Given the description of an element on the screen output the (x, y) to click on. 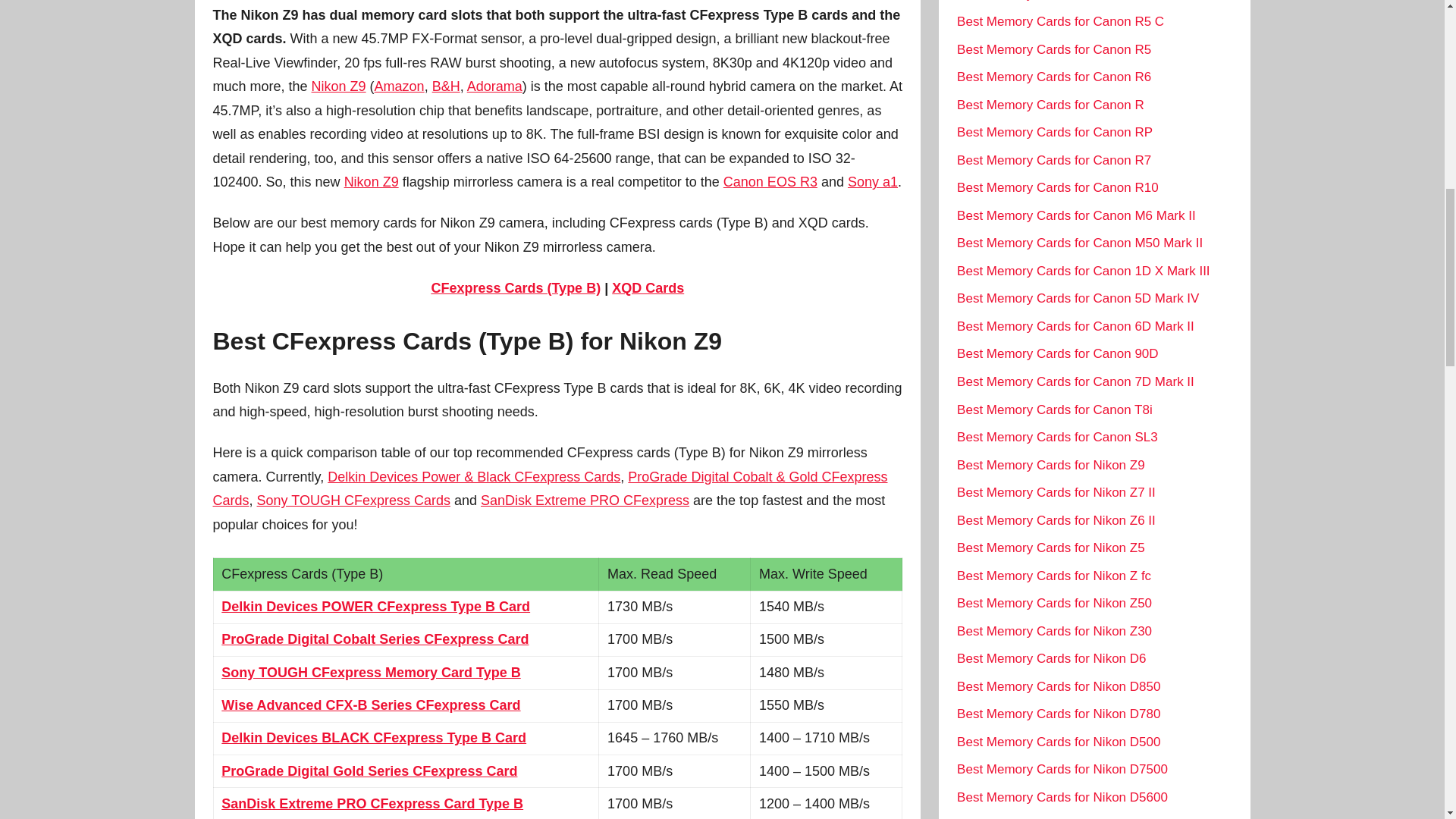
XQD Cards (647, 287)
Sony TOUGH CFexpress Cards (353, 500)
ProGrade Digital Gold Series CFexpress Card (368, 770)
Amazon (399, 86)
Adorama (494, 86)
Canon EOS R3 (769, 181)
Sony TOUGH CFexpress Memory Card Type B (370, 672)
Nikon Z9 (370, 181)
SanDisk Extreme PRO CFexpress (584, 500)
ProGrade Digital Cobalt Series CFexpress Card (374, 639)
SanDisk Extreme PRO CFexpress Card Type B (371, 803)
Delkin Devices BLACK CFexpress Type B Card (373, 737)
Wise Advanced CFX-B Series CFexpress Card (370, 704)
Sony a1 (872, 181)
Delkin Devices POWER CFexpress Type B Card (375, 606)
